Given the description of an element on the screen output the (x, y) to click on. 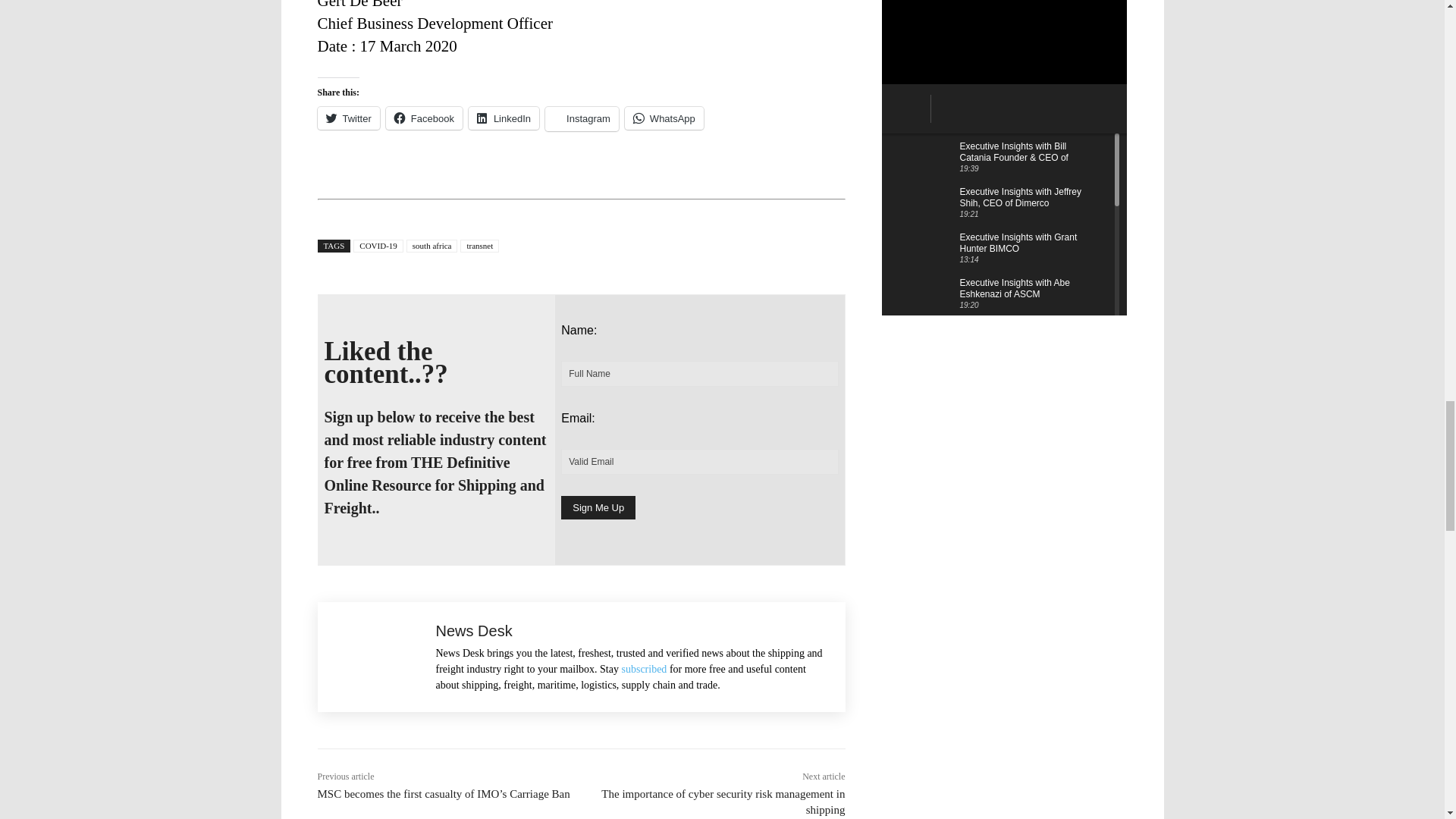
Sign Me Up (597, 507)
Full Name (699, 373)
Valid Email (699, 461)
